Given the description of an element on the screen output the (x, y) to click on. 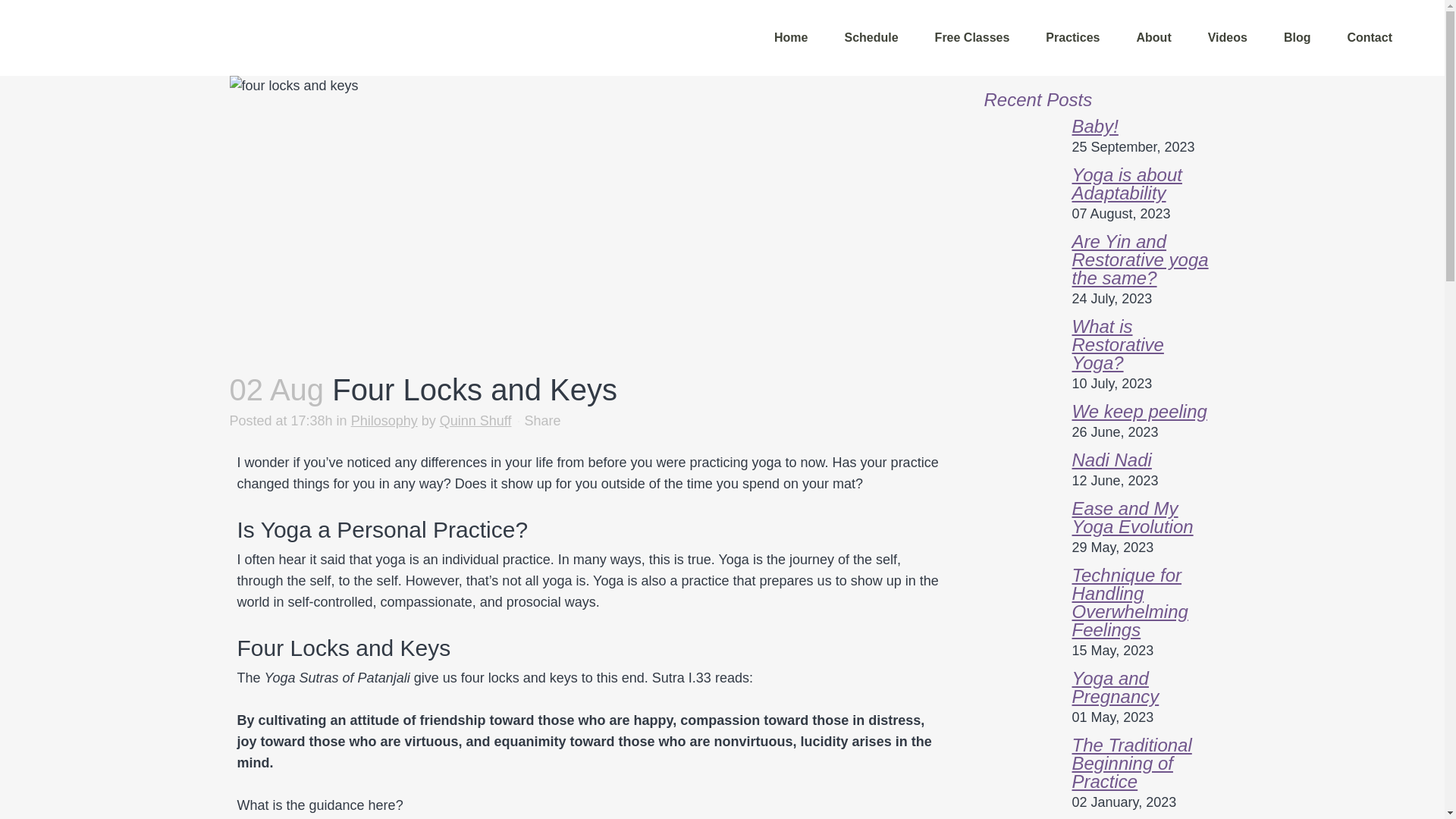
Baby! (1094, 126)
Yoga is about Adaptability (1126, 183)
Are Yin and Restorative yoga the same? (1139, 259)
Practices (1072, 38)
Philosophy (383, 420)
Share (542, 420)
Contact (1368, 38)
We keep peeling (1139, 411)
Videos (1227, 38)
Free Classes (972, 38)
